Given the description of an element on the screen output the (x, y) to click on. 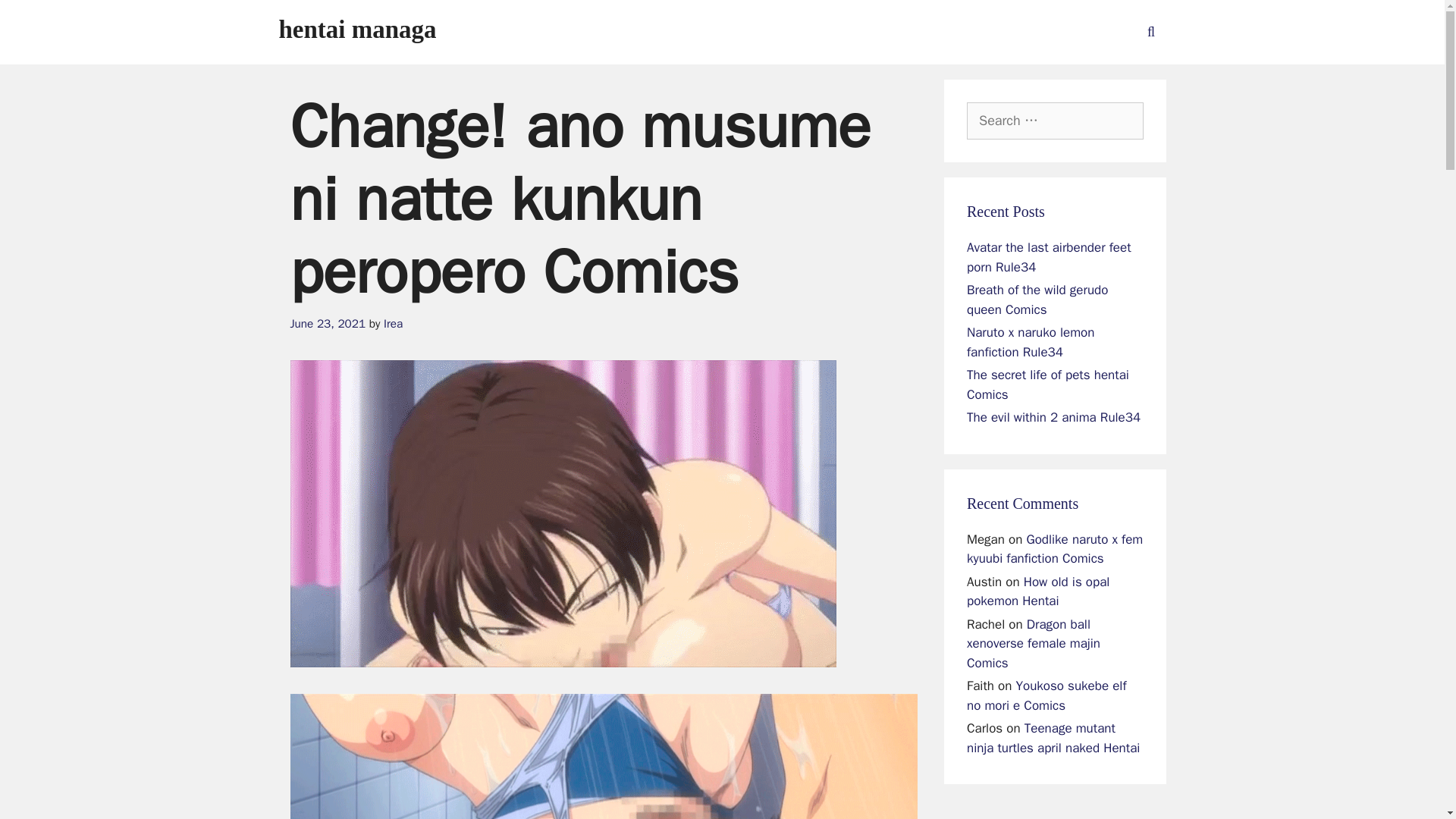
June 23, 2021 (327, 323)
Youkoso sukebe elf no mori e Comics (1046, 695)
Breath of the wild gerudo queen Comics (1037, 299)
Teenage mutant ninja turtles april naked Hentai (1053, 737)
2:09 am (327, 323)
Search for: (1054, 120)
How old is opal pokemon Hentai (1037, 591)
Dragon ball xenoverse female majin Comics (1033, 642)
hentai managa (357, 29)
Avatar the last airbender feet porn Rule34 (1048, 257)
